Given the description of an element on the screen output the (x, y) to click on. 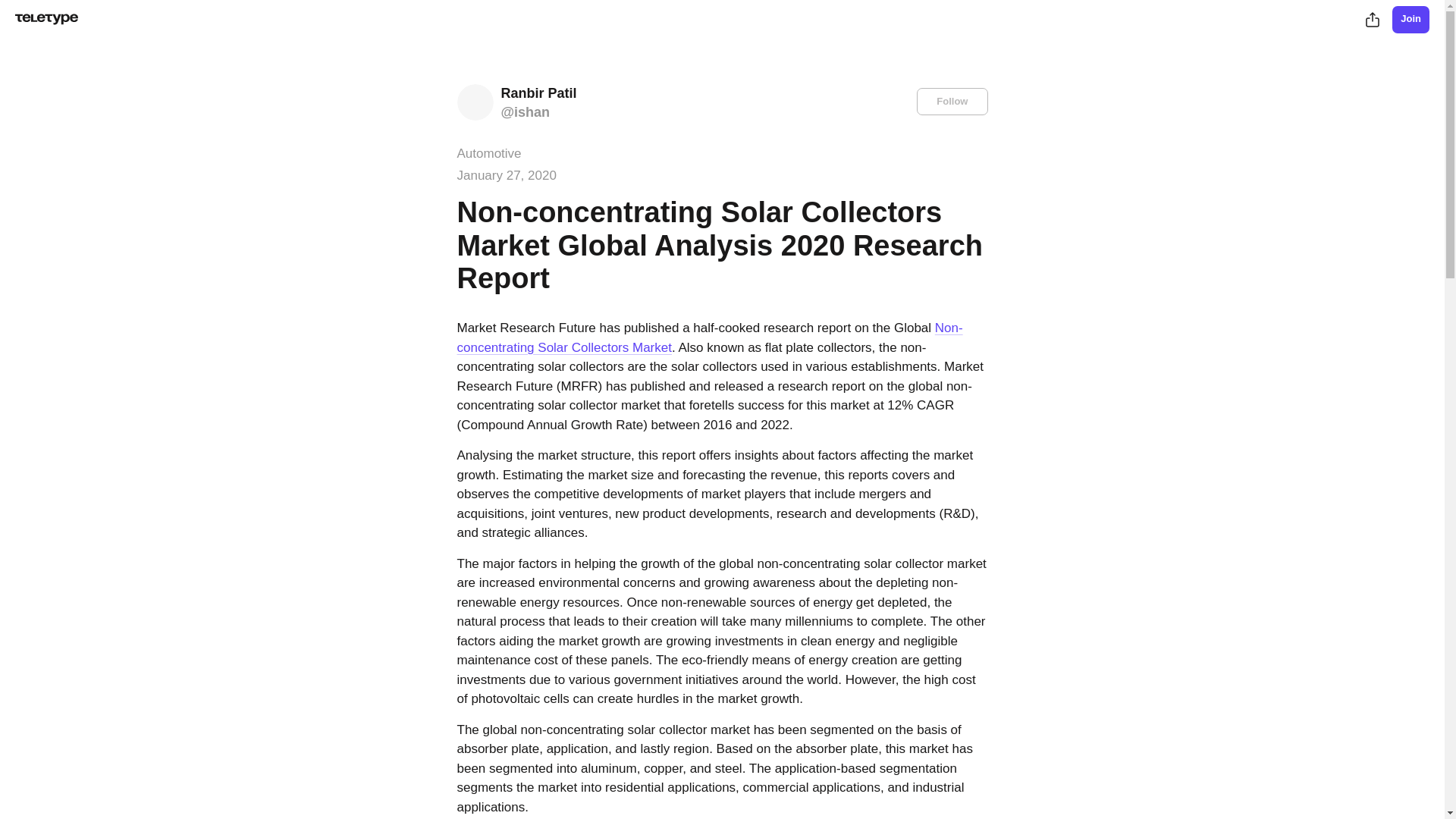
Share (1371, 19)
Automotive (489, 153)
Non-concentrating Solar Collectors Market (709, 337)
Join (1410, 19)
Follow (952, 101)
